Given the description of an element on the screen output the (x, y) to click on. 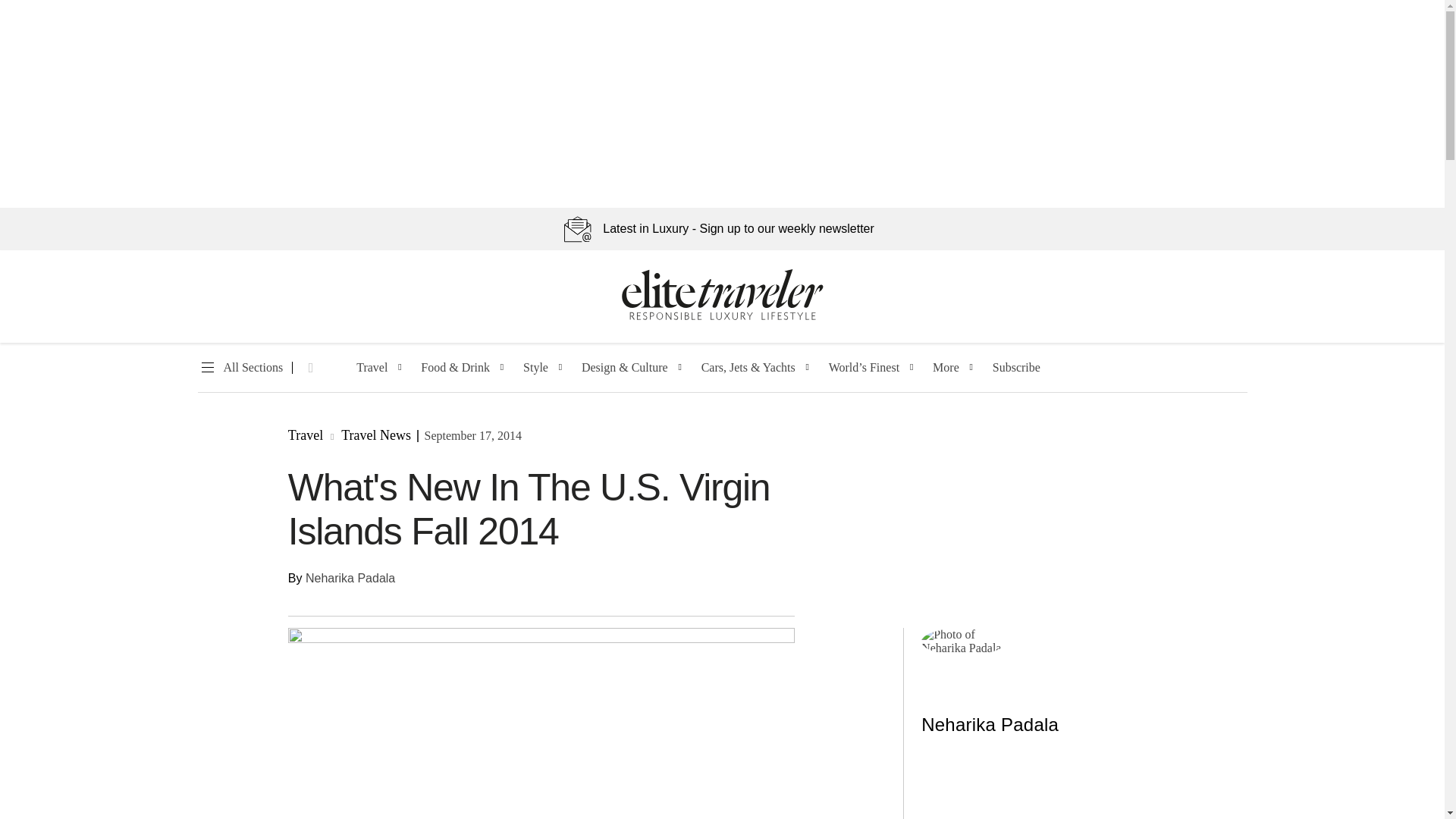
Travel (371, 368)
Elite Traveler (722, 317)
All Sections (239, 368)
